Given the description of an element on the screen output the (x, y) to click on. 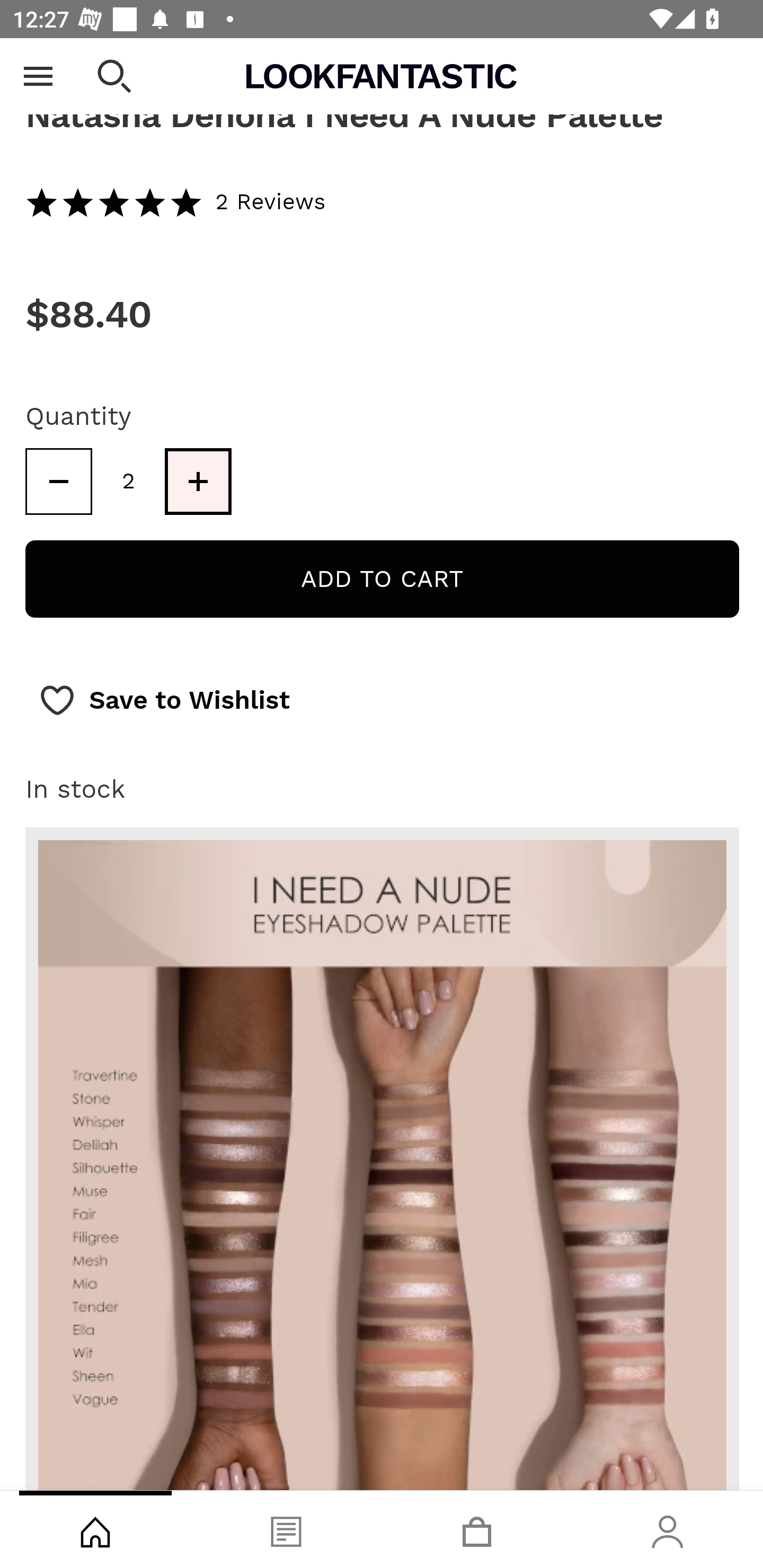
Decrease quantity (58, 481)
2, Quantity (128, 481)
Increase quantity (197, 481)
Add to cart (382, 579)
Save to Wishlist (164, 701)
Shop, tab, 1 of 4 (95, 1529)
Blog, tab, 2 of 4 (285, 1529)
Basket, tab, 3 of 4 (476, 1529)
Account, tab, 4 of 4 (667, 1529)
